Given the description of an element on the screen output the (x, y) to click on. 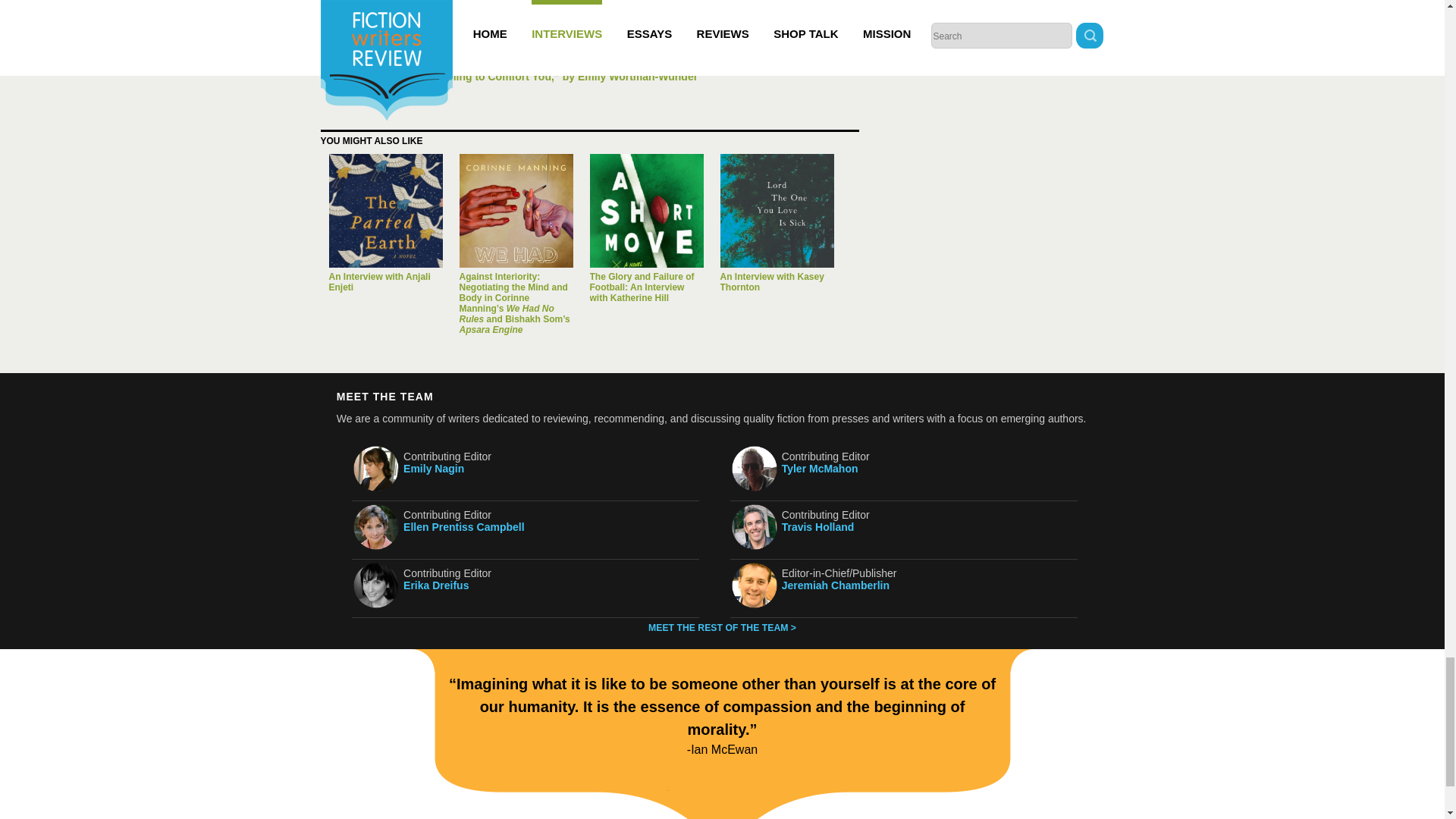
An Interview with Anjali Enjeti (385, 210)
An Interview with Kasey Thornton (777, 210)
An Interview with Anjali Enjeti (379, 281)
An Interview with Anjali Enjeti (630, 33)
An Interview with Kasey Thornton (772, 281)
